Given the description of an element on the screen output the (x, y) to click on. 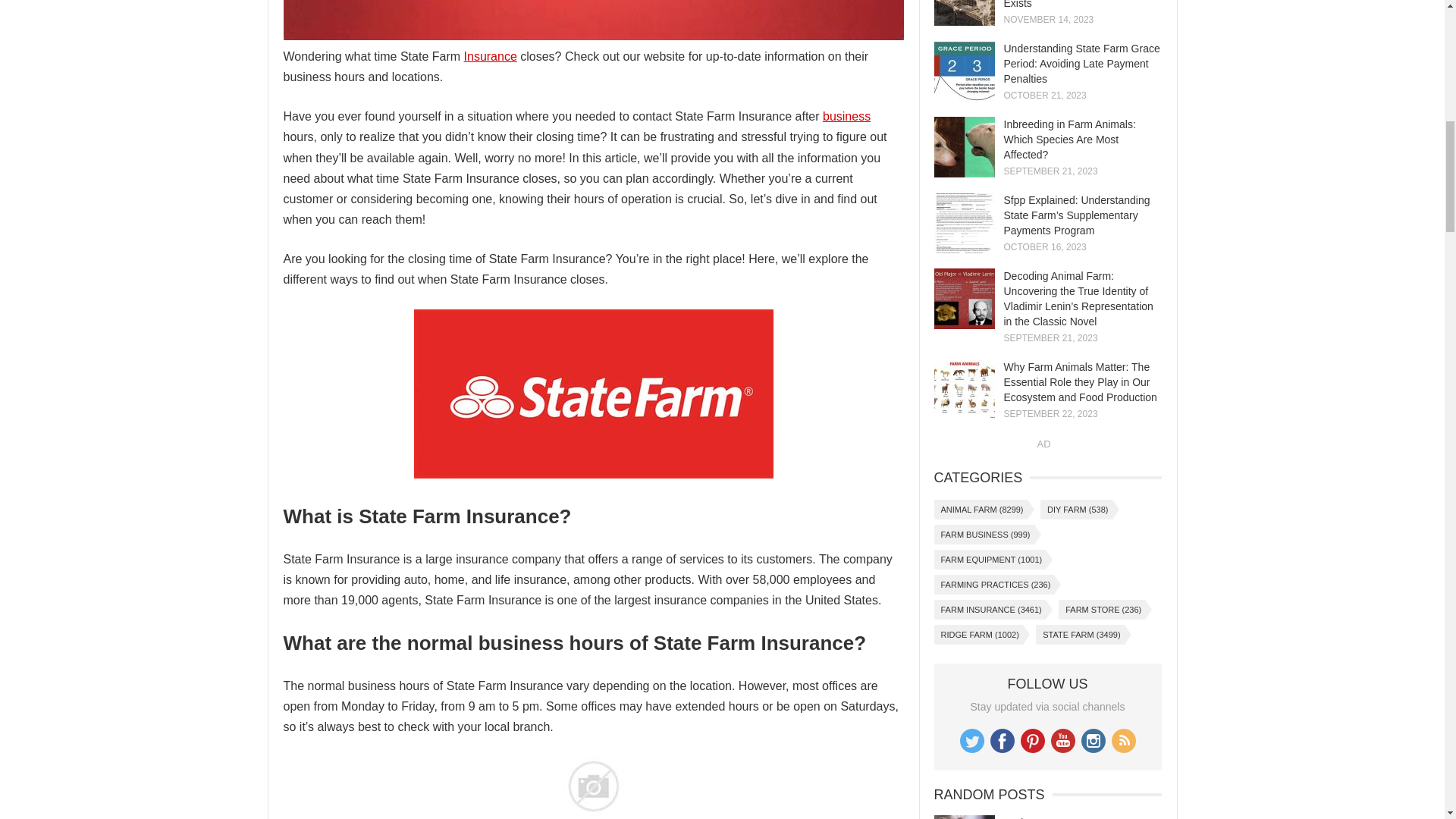
Insurance (490, 56)
business (846, 115)
